Given the description of an element on the screen output the (x, y) to click on. 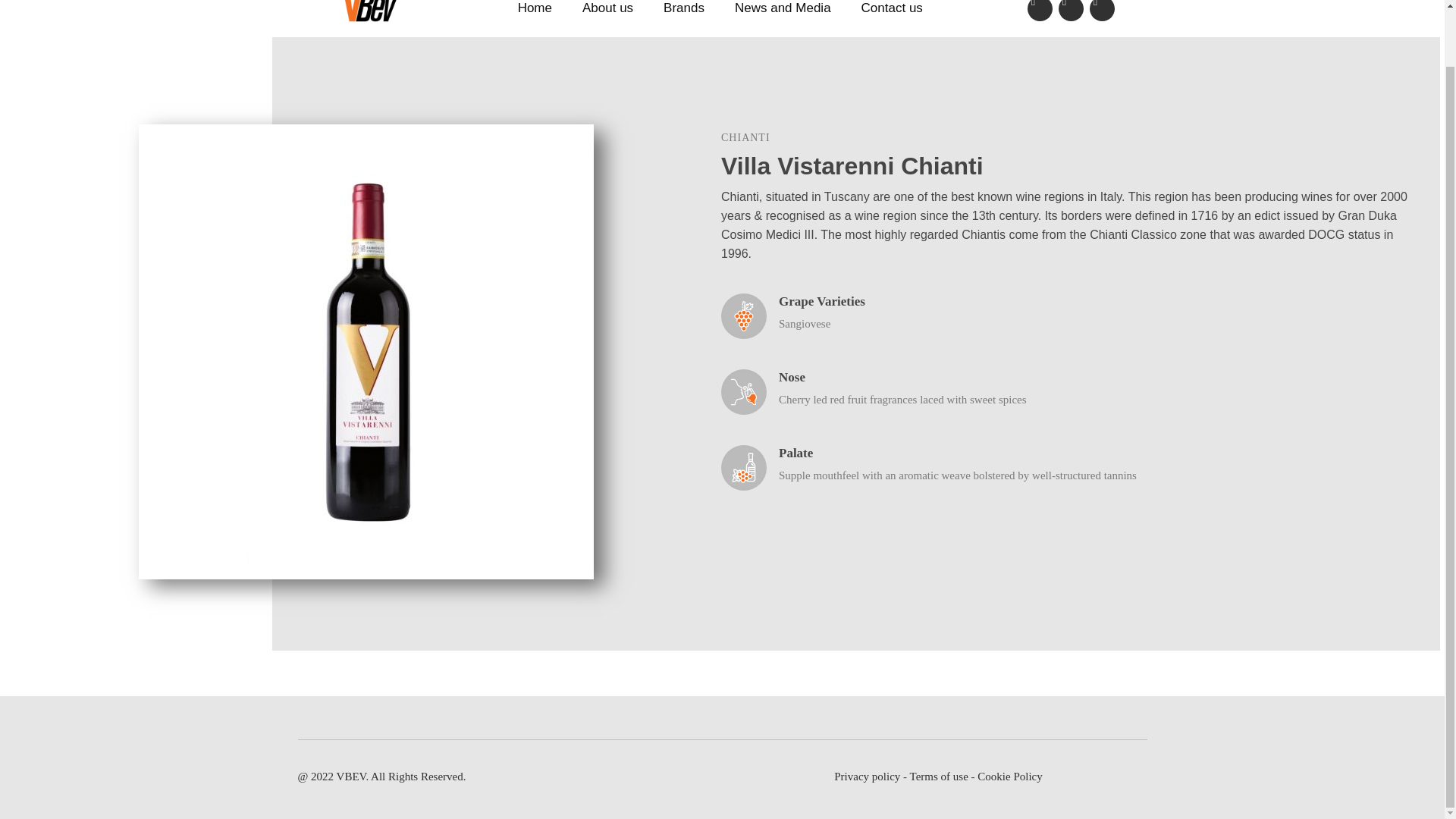
Brands (683, 11)
News and Media (782, 11)
Home (534, 11)
About us (607, 11)
Contact us (891, 11)
